Given the description of an element on the screen output the (x, y) to click on. 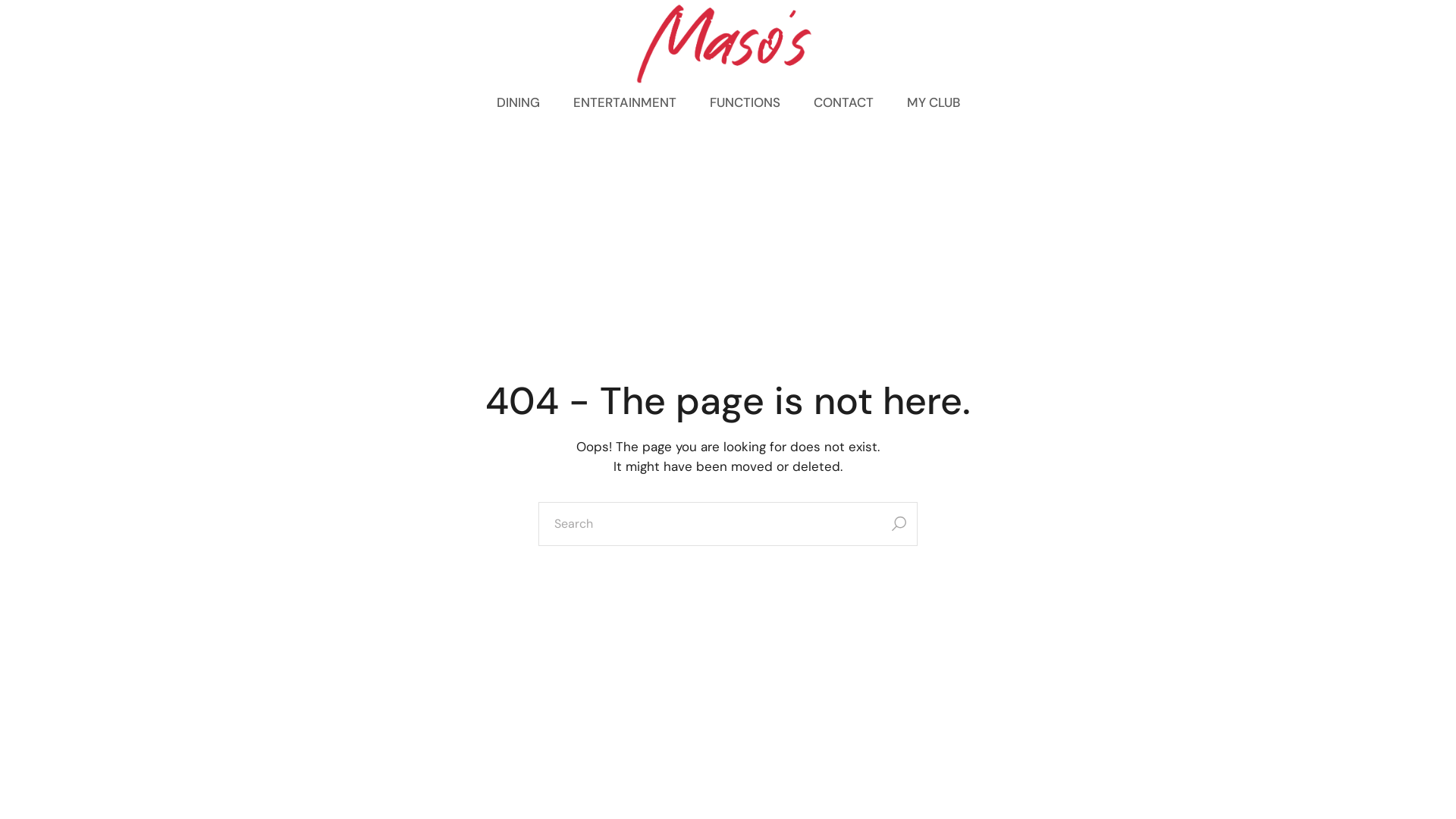
ENTERTAINMENT Element type: text (624, 102)
CONTACT Element type: text (842, 102)
DINING Element type: text (517, 102)
MY CLUB Element type: text (933, 102)
FUNCTIONS Element type: text (744, 102)
